Given the description of an element on the screen output the (x, y) to click on. 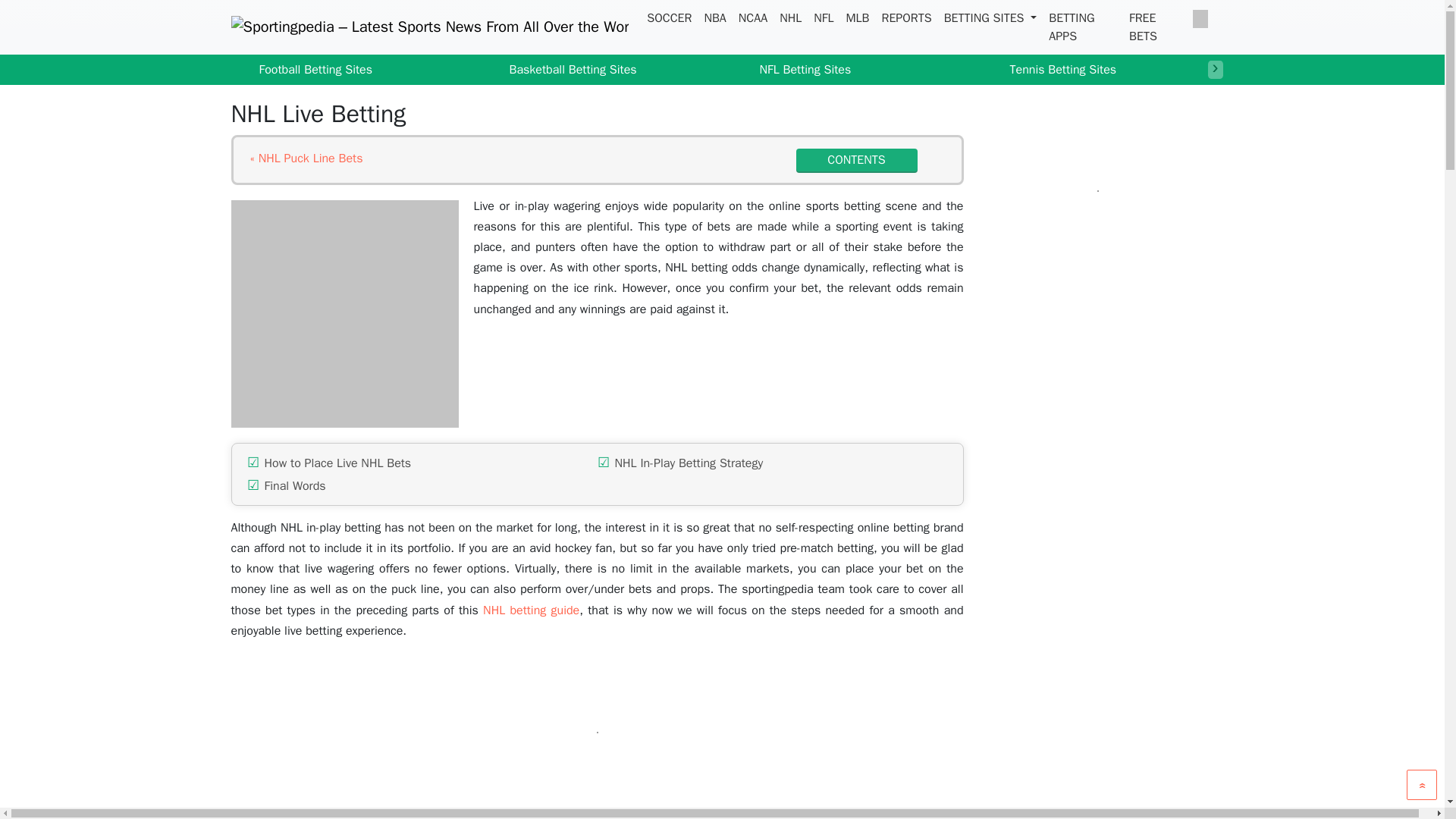
BETTING SITES (990, 18)
NHL (790, 18)
NBA (714, 18)
NHL Puck Line Bets (307, 158)
NFL (824, 18)
MLB (857, 18)
NHL (790, 18)
BETTING APPS (1082, 27)
NFL Betting Sites (793, 69)
REPORTS (906, 18)
REPORTS (906, 18)
Horse Racing Betting Sites (1318, 69)
FREE BETS (1154, 27)
NCAA (752, 18)
NFL (824, 18)
